Given the description of an element on the screen output the (x, y) to click on. 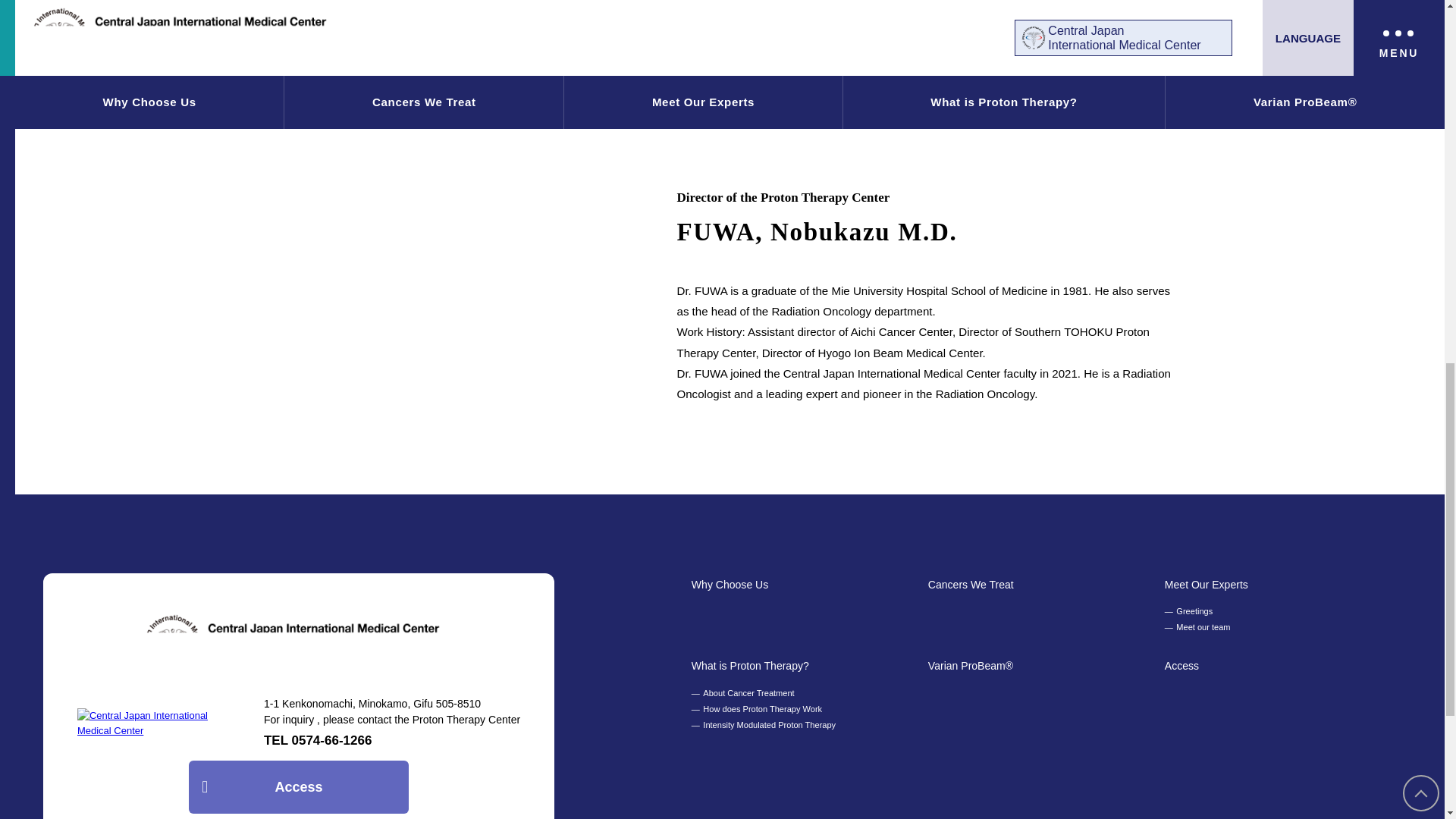
Access (1181, 666)
Why Choose Us (729, 584)
Intensity Modulated Proton Therapy (763, 725)
TEL 0574-66-1266 (317, 741)
What is Proton Therapy? (750, 666)
Greetings (1188, 611)
Meet our team (1197, 627)
How does Proton Therapy Work (756, 709)
Cancers We Treat (970, 584)
Access (298, 787)
Meet Our Experts (1205, 584)
About Cancer Treatment (742, 693)
